Given the description of an element on the screen output the (x, y) to click on. 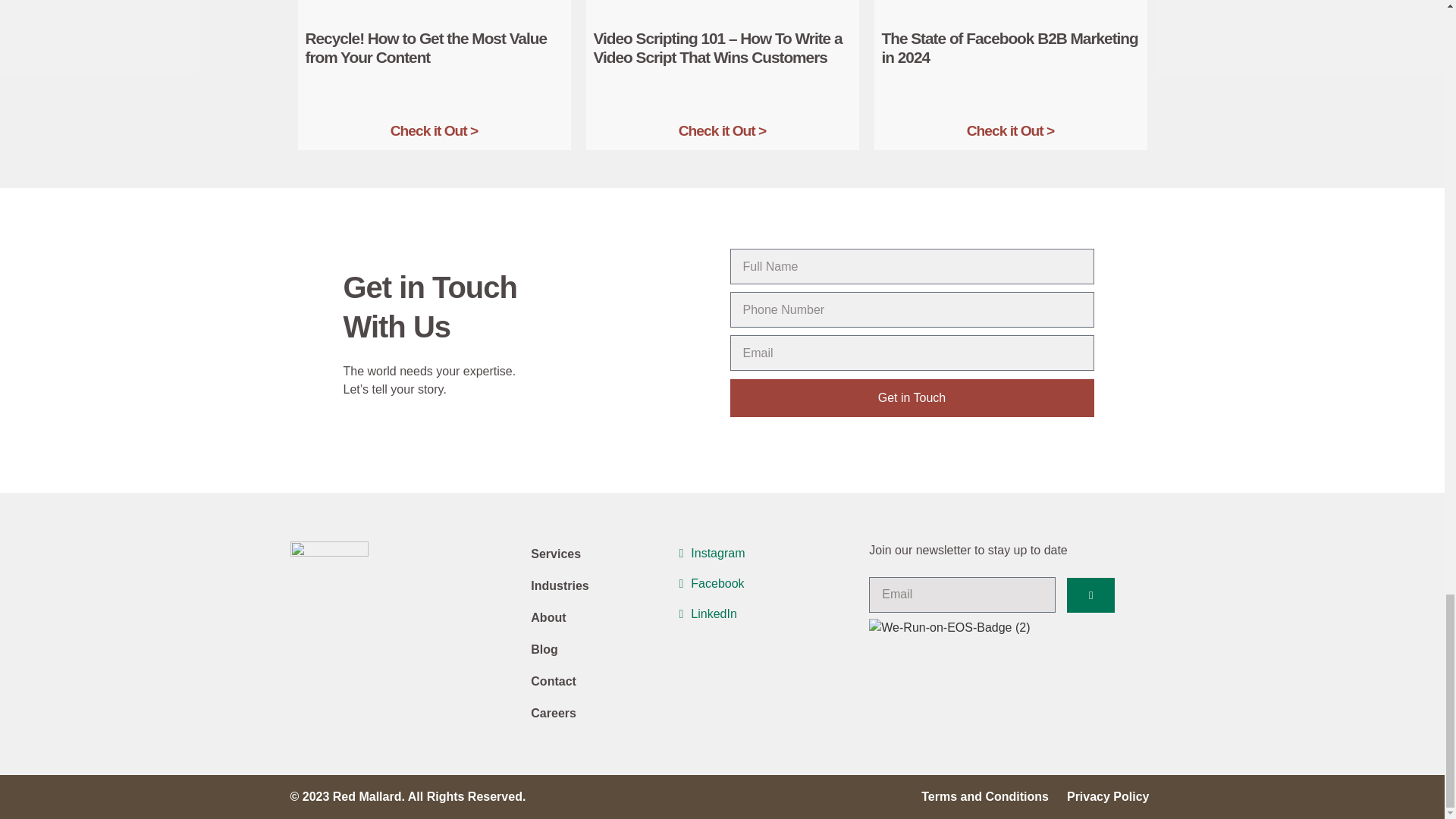
Services (601, 554)
Get in Touch (911, 397)
